Given the description of an element on the screen output the (x, y) to click on. 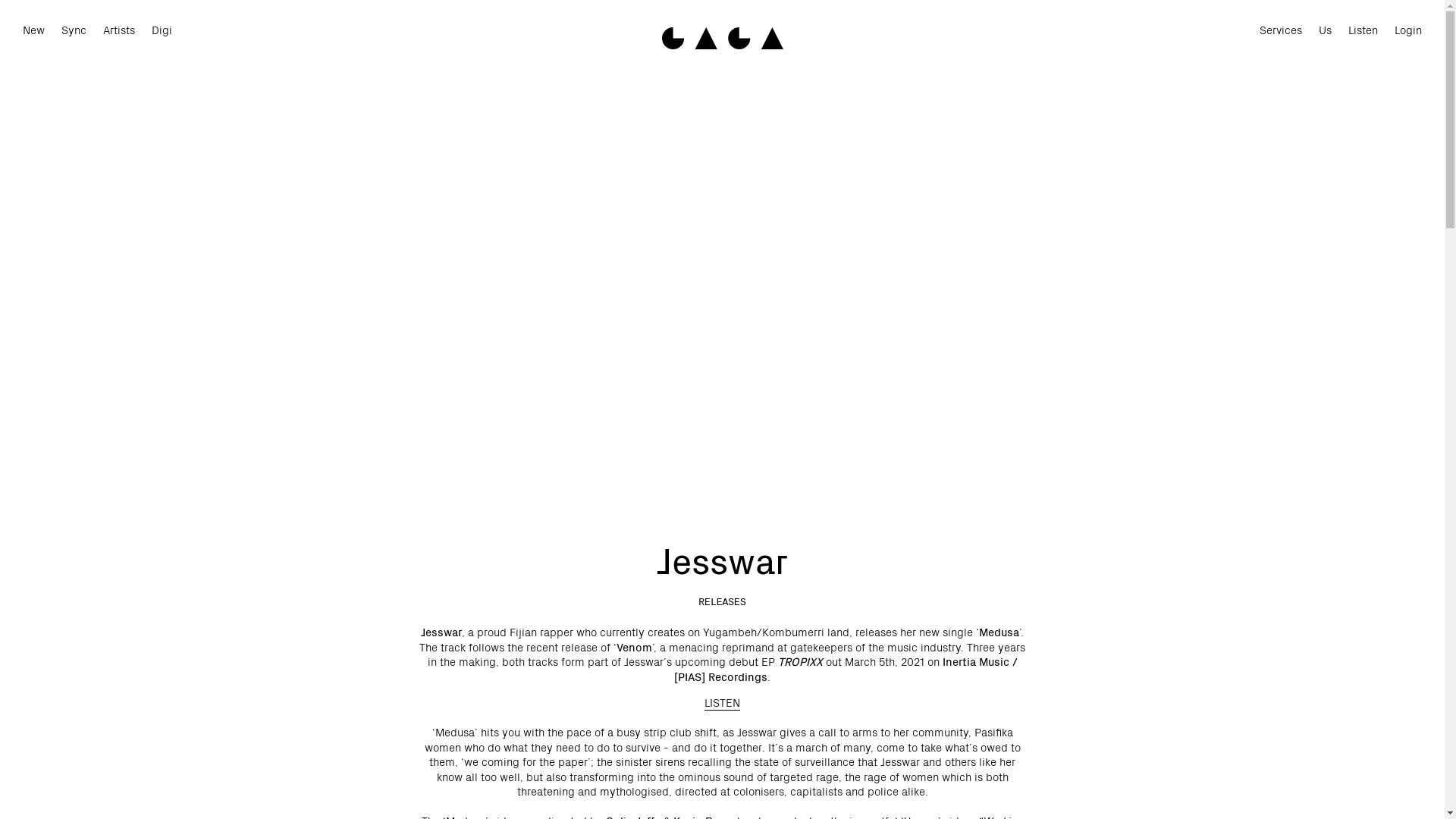
Artists Element type: text (118, 30)
Listen Element type: text (1362, 30)
Services Element type: text (1280, 30)
Gaga Element type: text (721, 38)
New Element type: text (33, 30)
Us Element type: text (1324, 30)
Digi Element type: text (161, 30)
LISTEN Element type: text (722, 701)
Sync Element type: text (73, 30)
Login Element type: text (1407, 30)
